Given the description of an element on the screen output the (x, y) to click on. 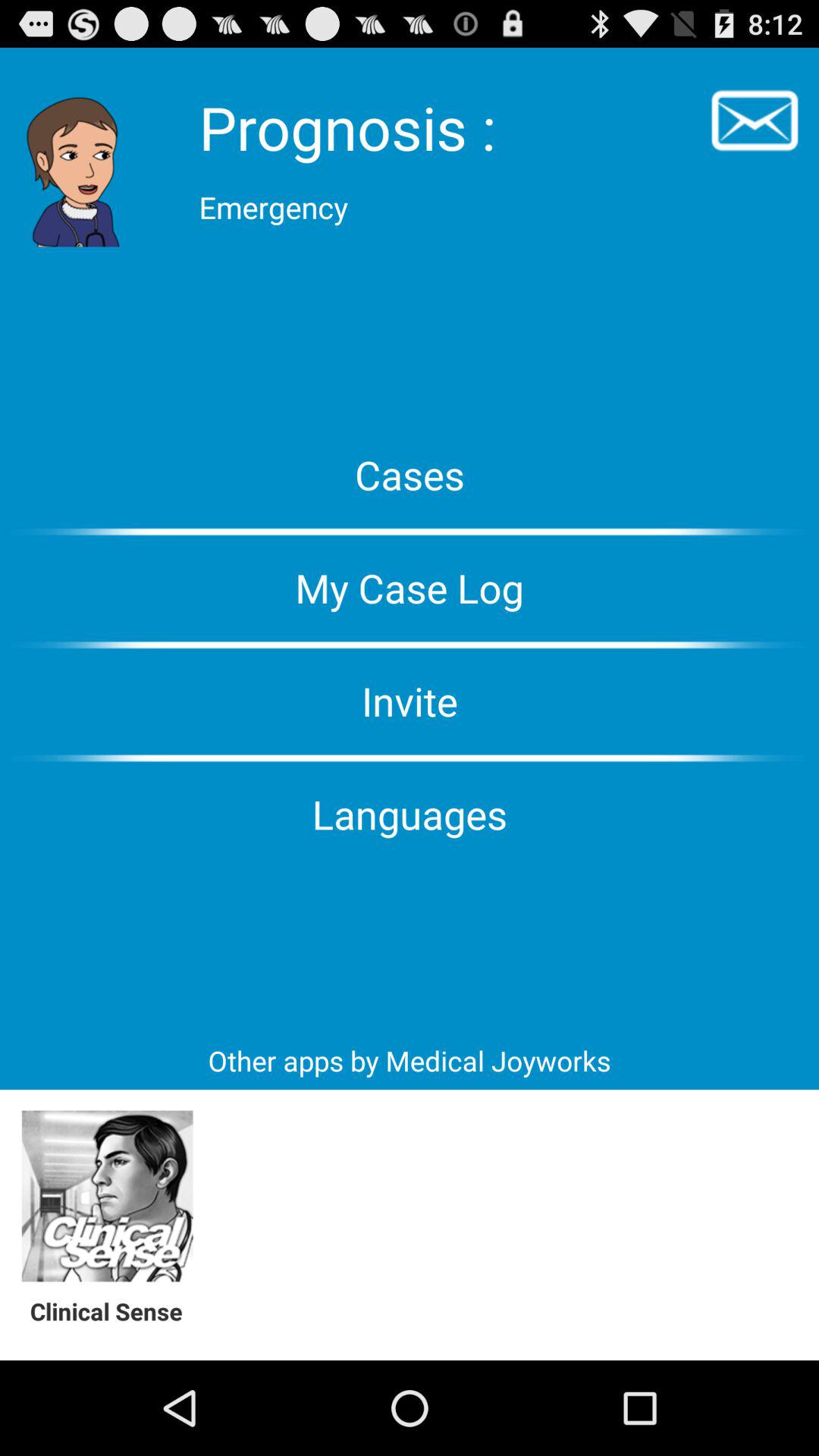
select cases item (409, 474)
